Given the description of an element on the screen output the (x, y) to click on. 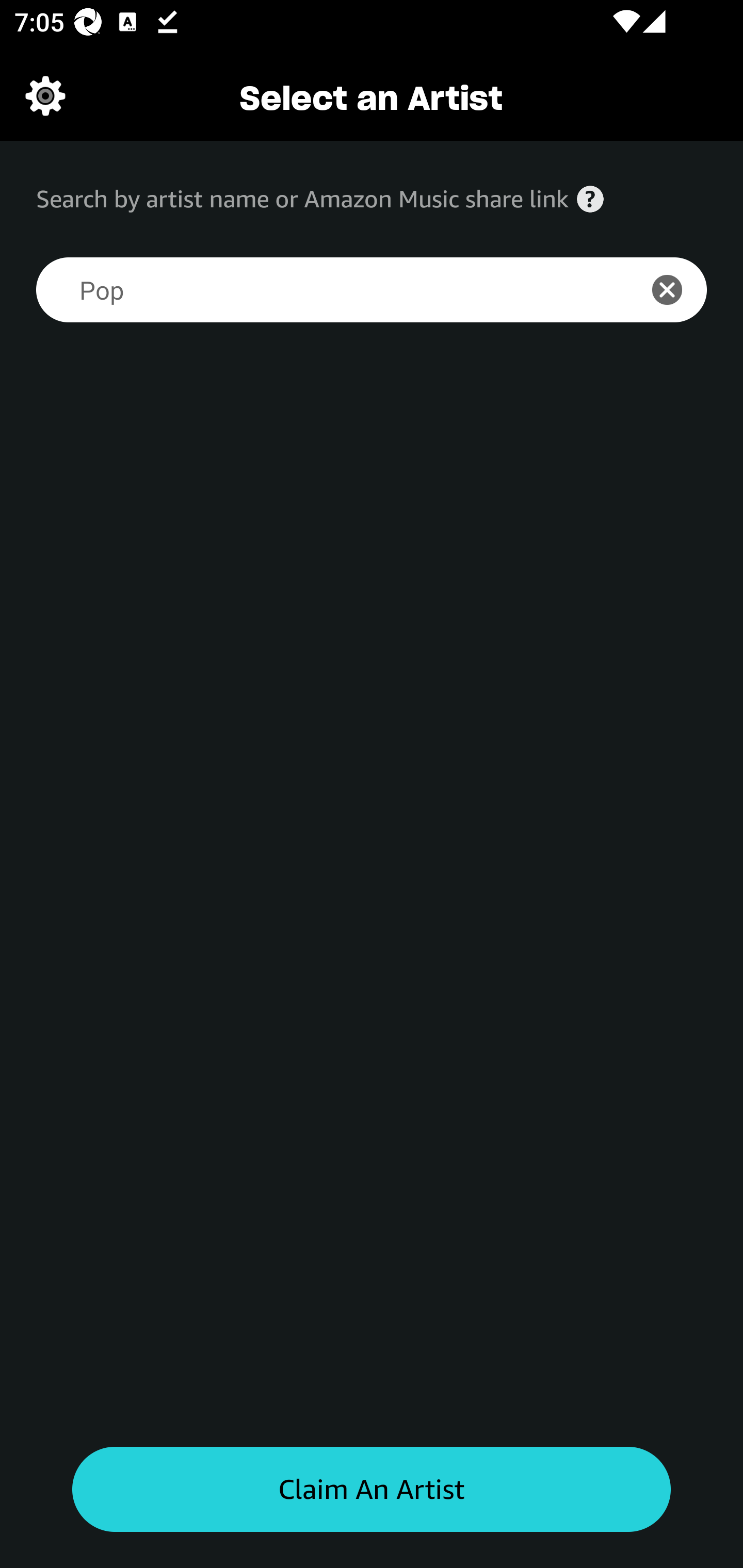
Help  icon (589, 199)
Pop Search for an artist search bar (324, 290)
 icon (677, 290)
Claim an artist button Claim An Artist (371, 1489)
